Given the description of an element on the screen output the (x, y) to click on. 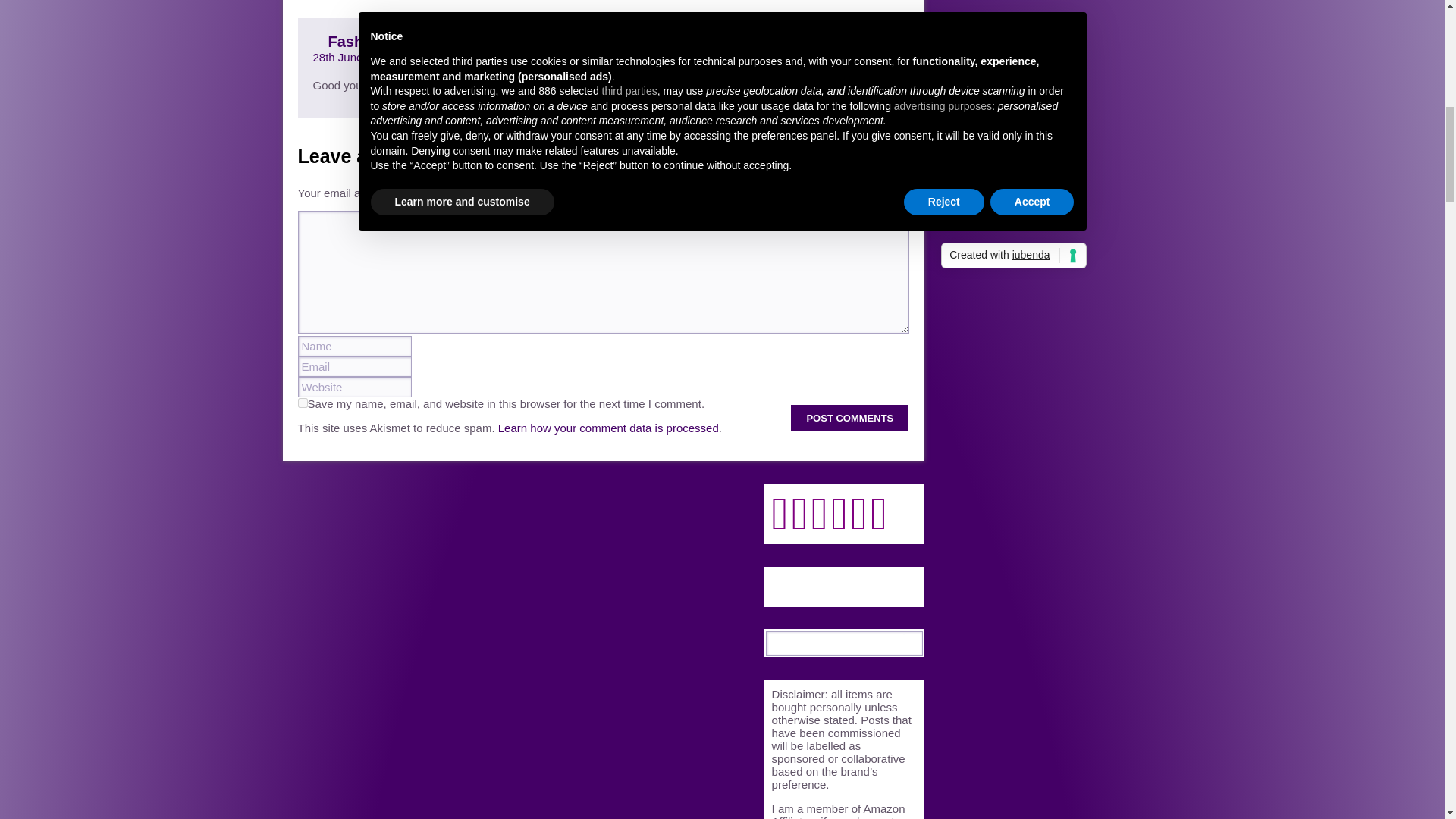
Fashion and Style Police (416, 41)
yes (302, 402)
Post Comments (849, 417)
Post Comments (849, 417)
Search (912, 641)
Learn how your comment data is processed (608, 427)
28th June 2017 at 2:27 pm (379, 56)
Search (912, 641)
REPLY (875, 40)
